Given the description of an element on the screen output the (x, y) to click on. 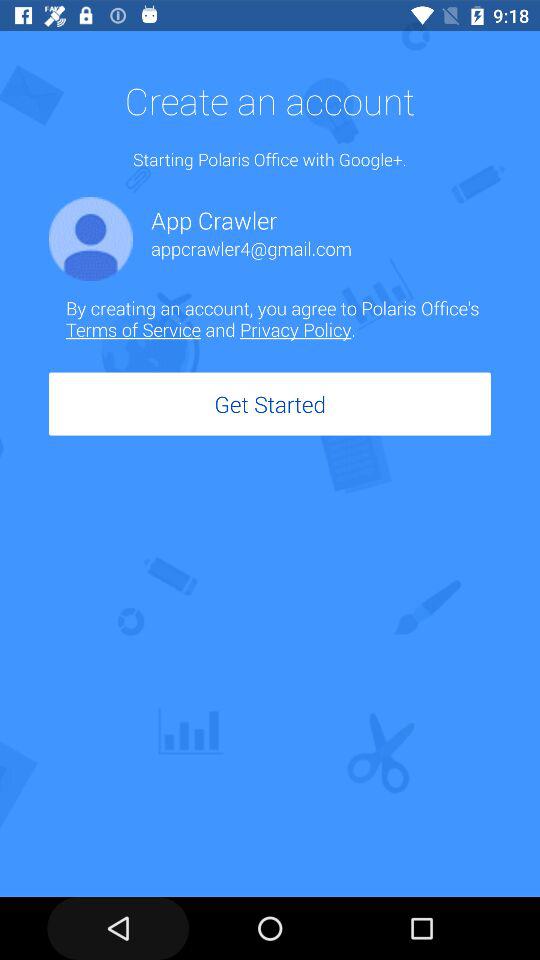
scroll to the by creating an (278, 318)
